Given the description of an element on the screen output the (x, y) to click on. 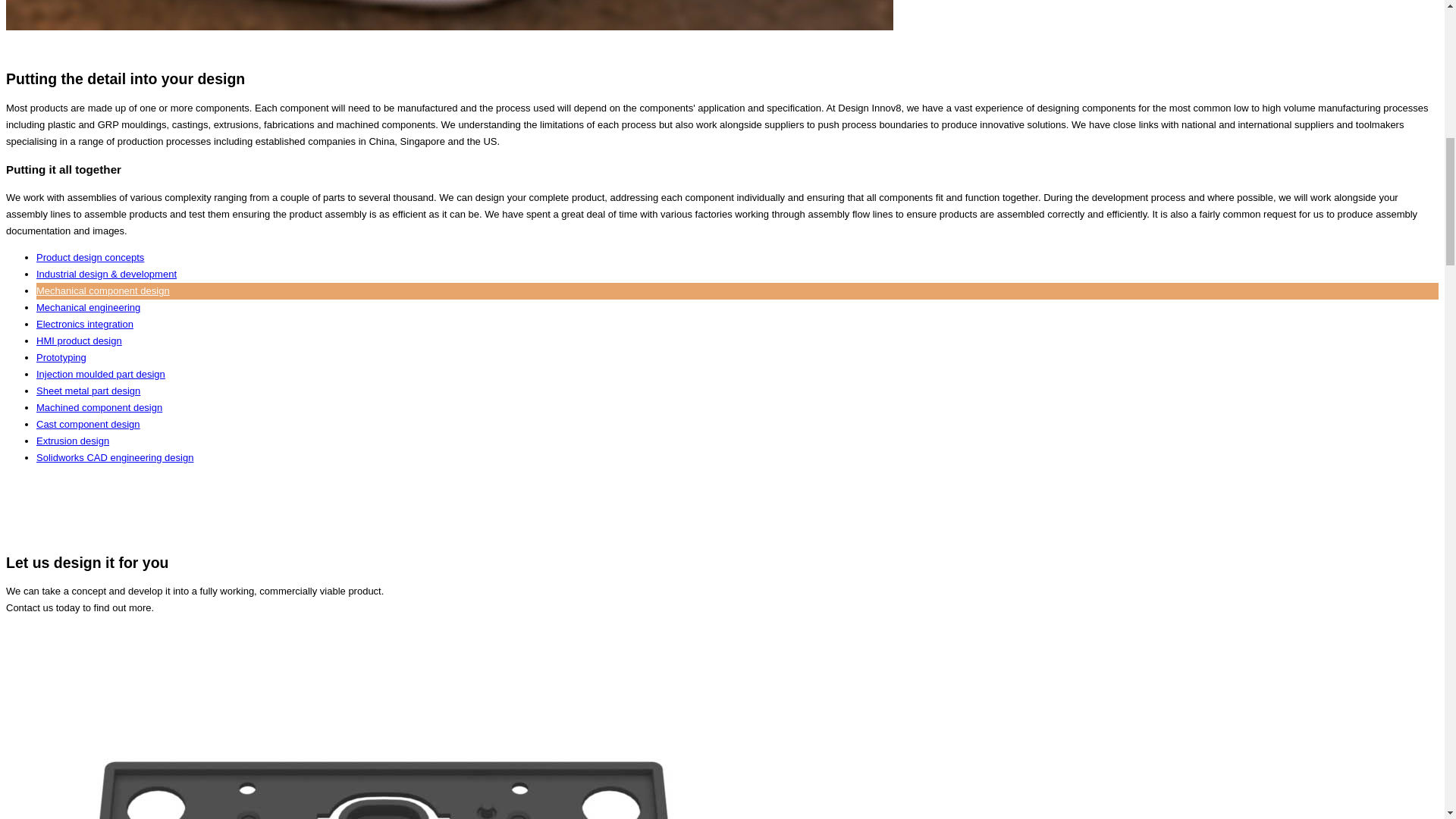
Electronics integration (84, 324)
Mechanical engineering (87, 307)
Mechanical component design (103, 290)
Product design concepts (90, 256)
